Given the description of an element on the screen output the (x, y) to click on. 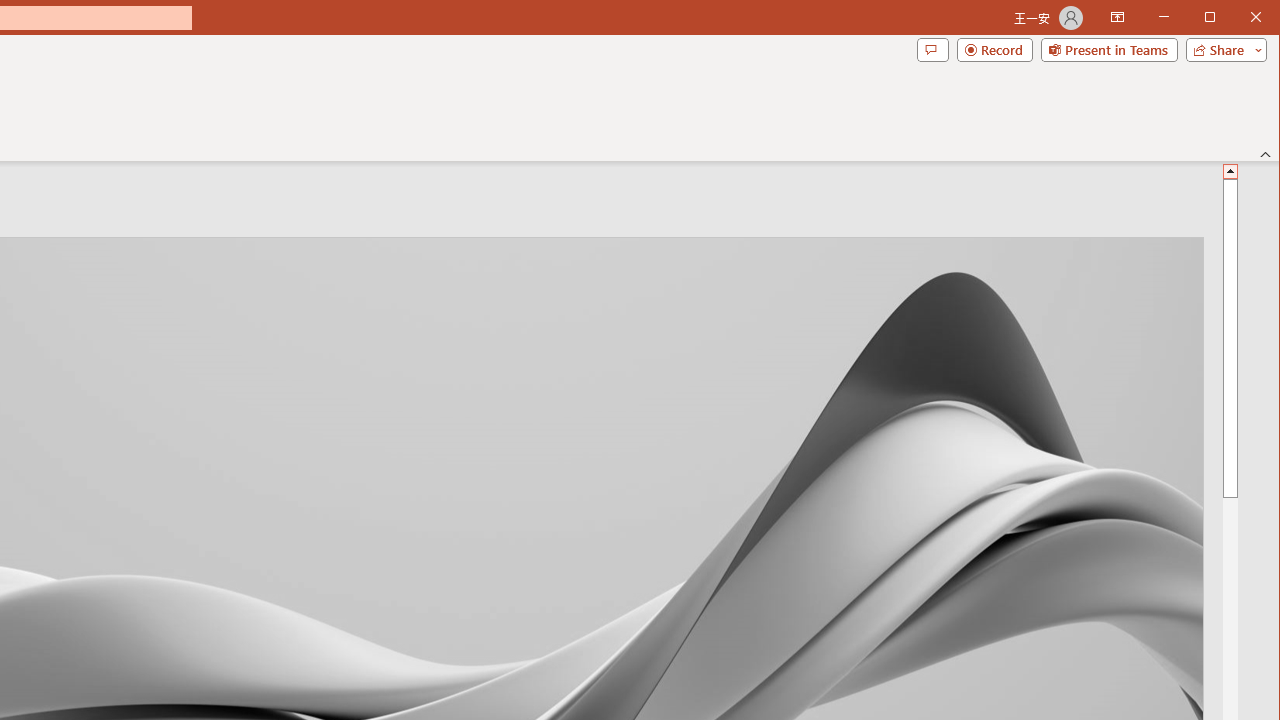
Collapse the Ribbon (1266, 154)
Line up (1230, 170)
Minimize (1216, 18)
Comments (932, 49)
Share (1222, 49)
Maximize (1238, 18)
Present in Teams (1108, 49)
Close (1261, 18)
Ribbon Display Options (1117, 17)
